Given the description of an element on the screen output the (x, y) to click on. 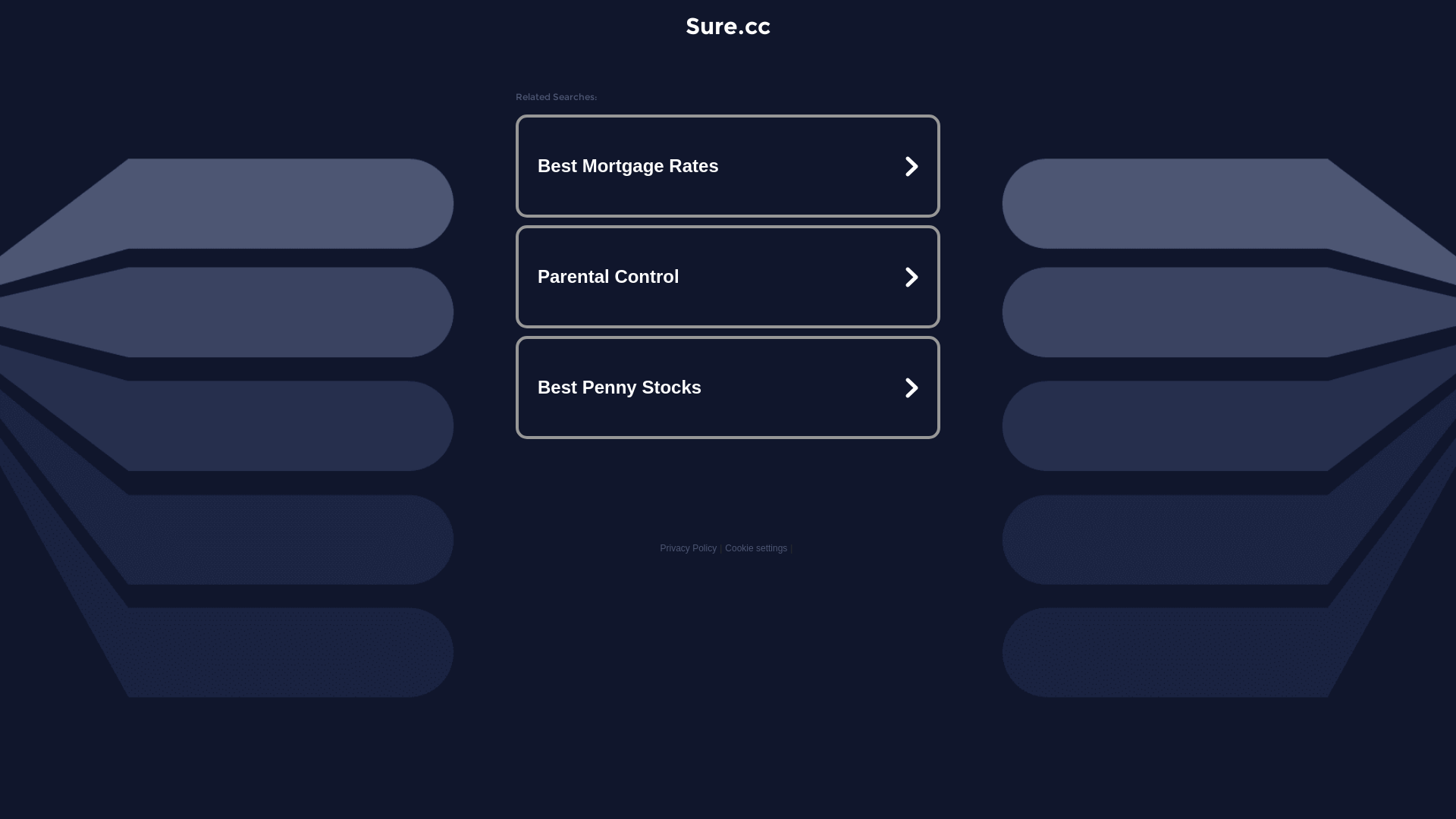
Sure.cc Element type: text (727, 26)
Parental Control Element type: text (727, 276)
Best Penny Stocks Element type: text (727, 387)
Privacy Policy Element type: text (687, 547)
Cookie settings Element type: text (755, 547)
Best Mortgage Rates Element type: text (727, 165)
